Given the description of an element on the screen output the (x, y) to click on. 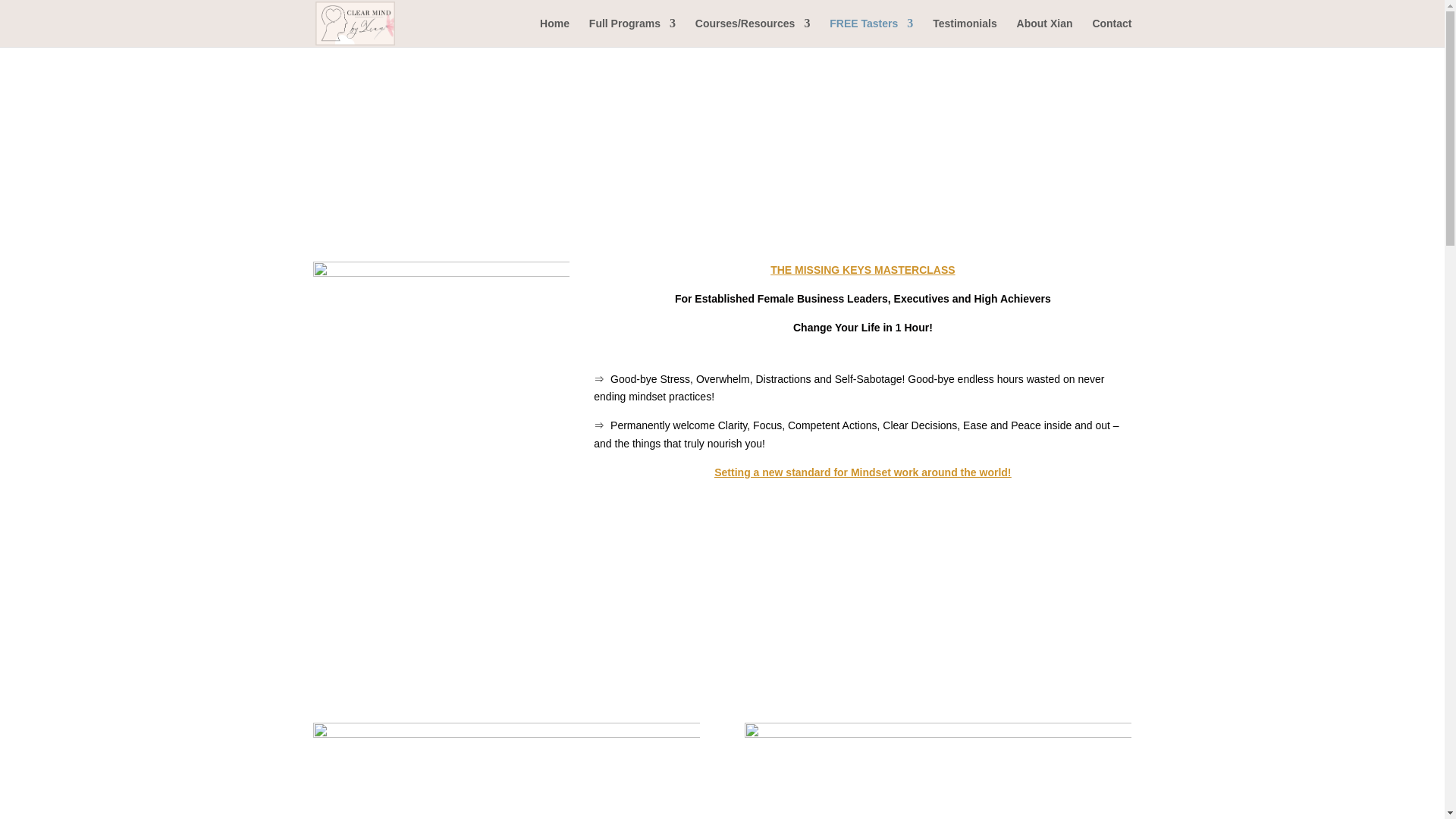
Testimonials (965, 32)
About Xian (1044, 32)
Contact (1111, 32)
HTW5 COVER (441, 389)
Home (554, 32)
Full Programs (632, 32)
htw 3 feedback 1 (505, 770)
FREE Tasters (870, 32)
htw 3 feedback 6 2 FROM HTW 2 (937, 770)
